Given the description of an element on the screen output the (x, y) to click on. 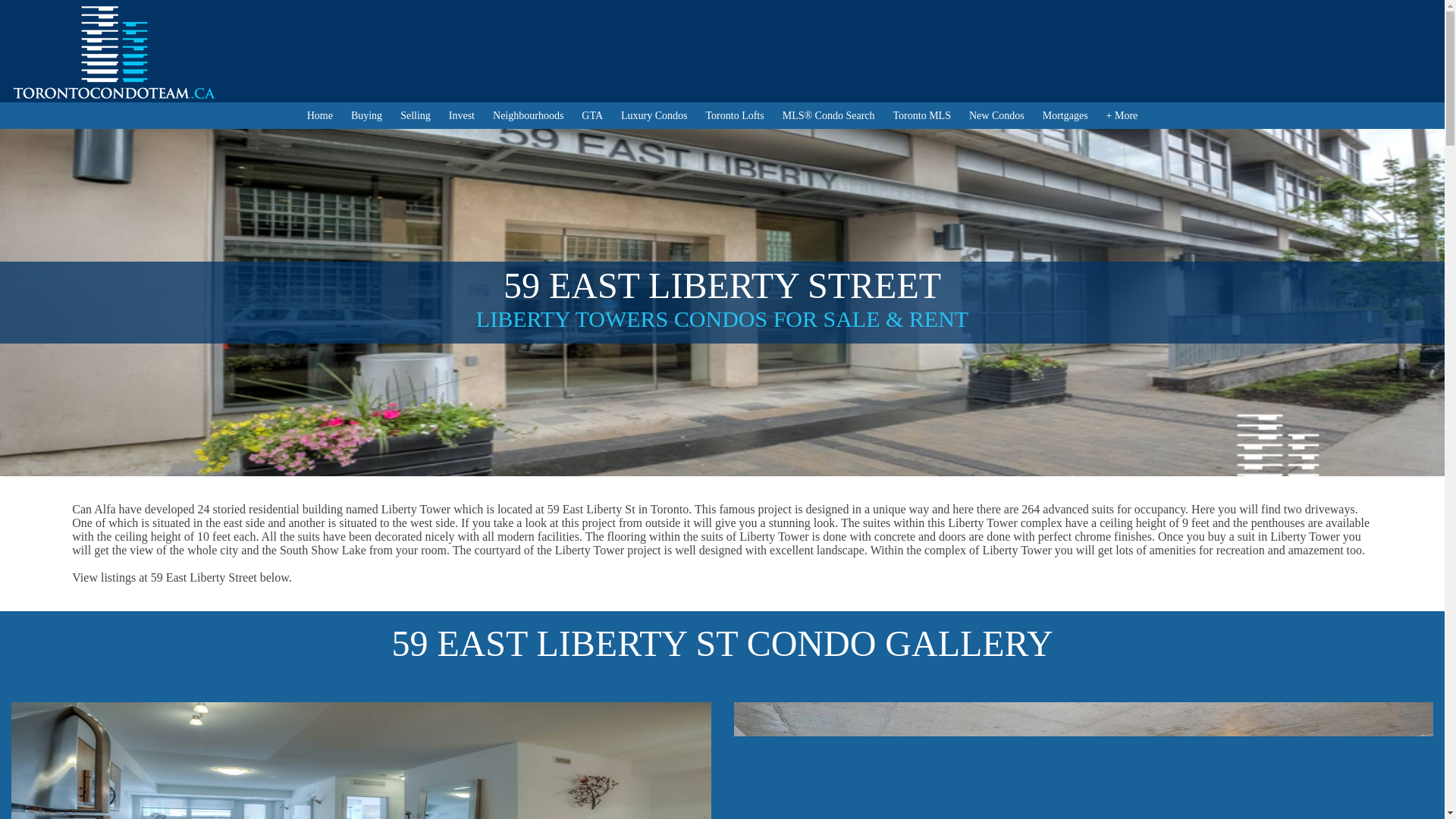
Home (319, 115)
Invest (461, 115)
Buying (366, 115)
Neighbourhoods (527, 115)
Selling (415, 115)
Buying  (366, 115)
Neighbourhoods (527, 115)
Home (319, 115)
Toronto Condo Team (123, 51)
Selling (415, 115)
